Given the description of an element on the screen output the (x, y) to click on. 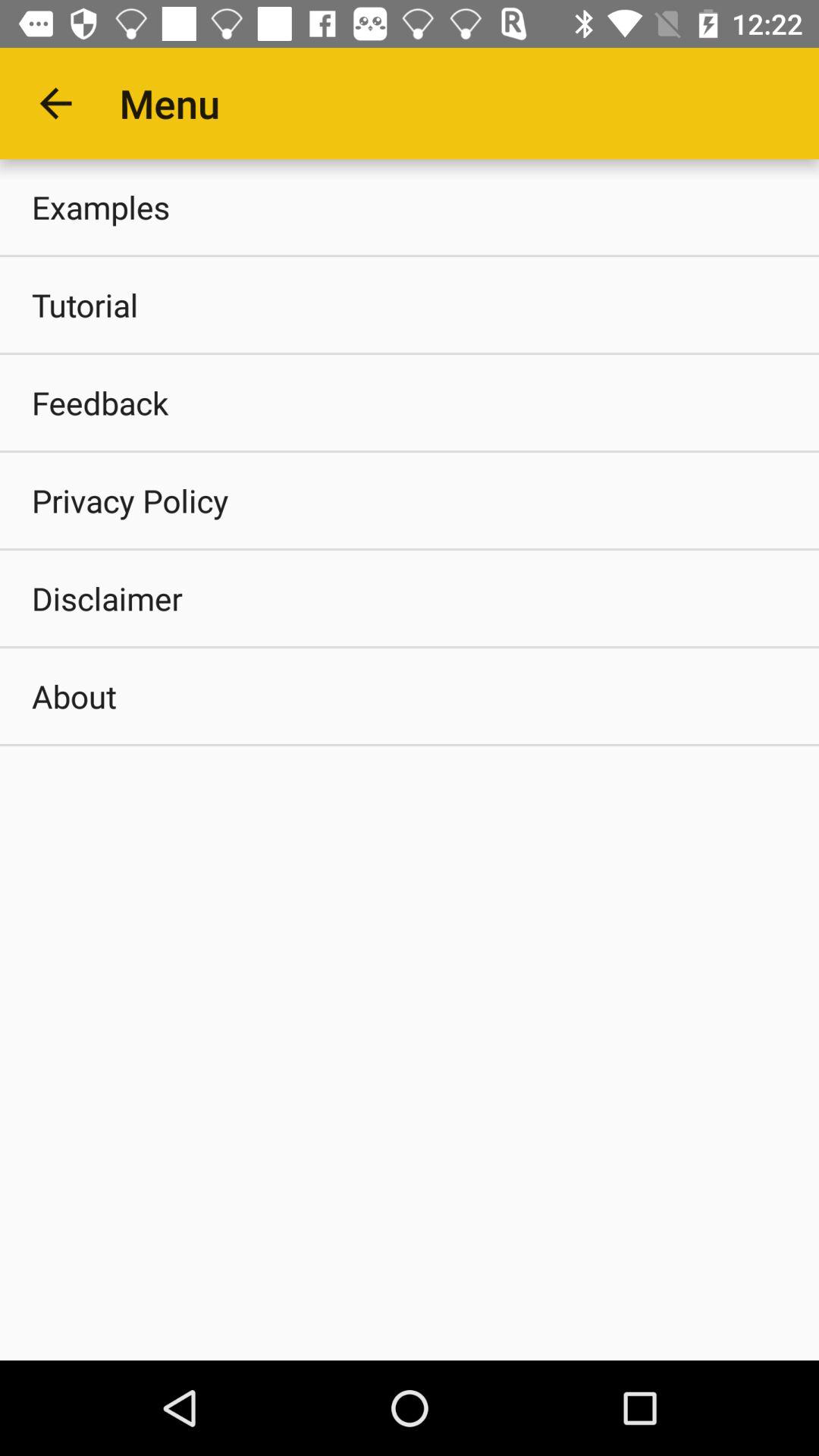
launch feedback (409, 402)
